Given the description of an element on the screen output the (x, y) to click on. 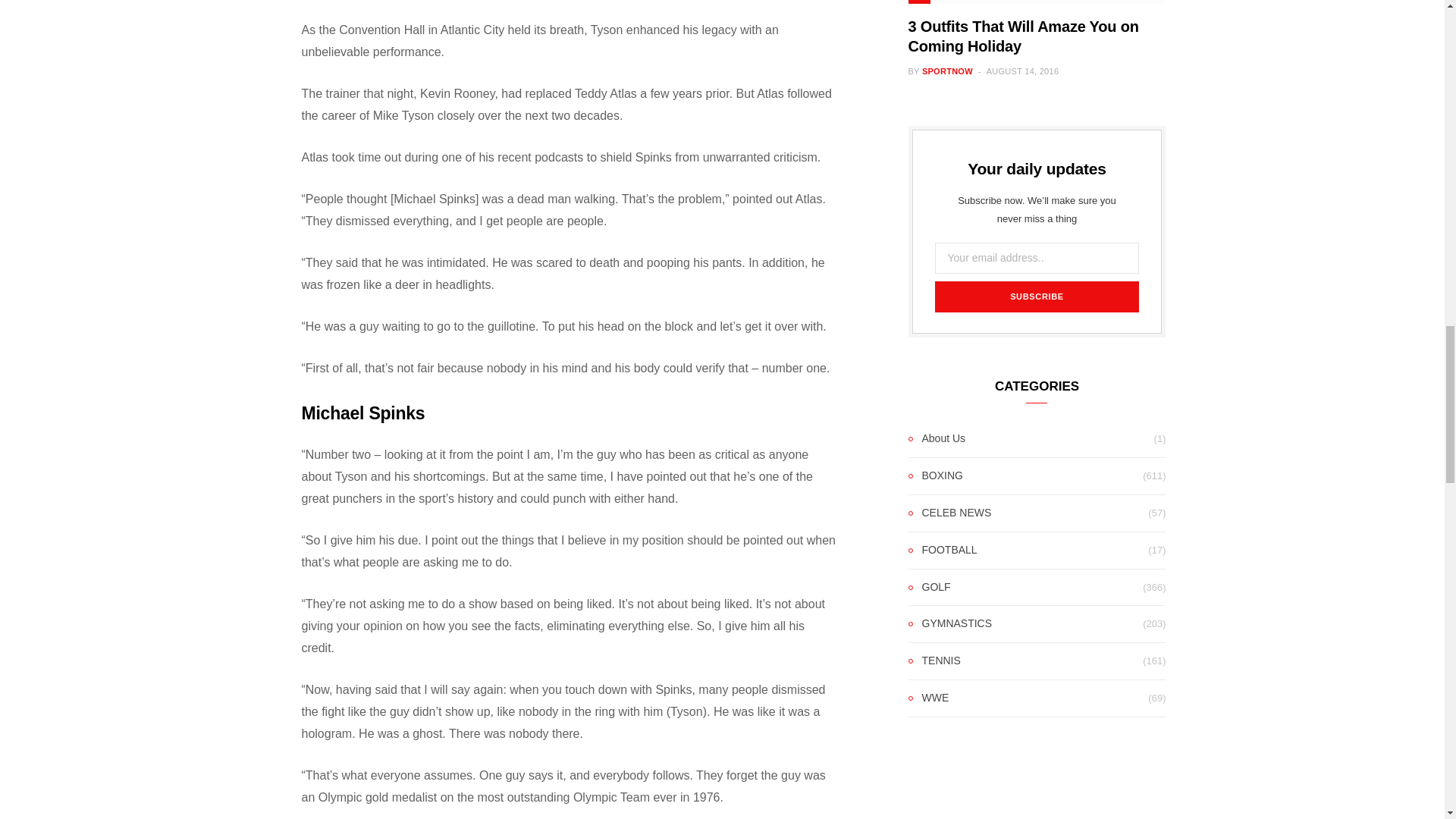
Subscribe (1036, 296)
